Given the description of an element on the screen output the (x, y) to click on. 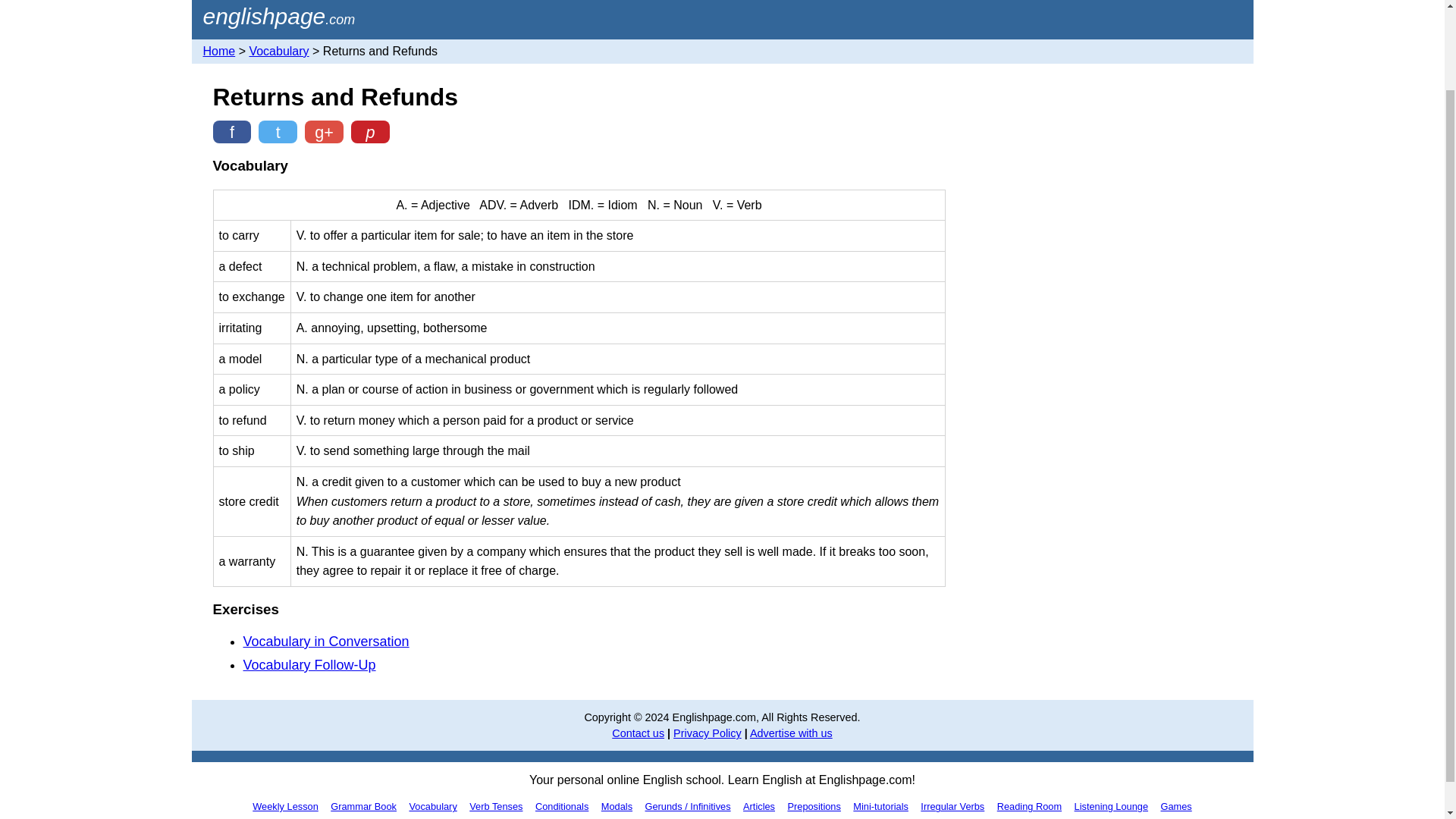
Vocabulary Follow-Up (309, 664)
Reading Room (1028, 806)
p (370, 131)
Vocabulary (432, 806)
englishpage.com (279, 16)
Contact us (637, 733)
Games (1175, 806)
Home (279, 16)
Advertise with us (790, 733)
Conditionals (561, 806)
t (278, 131)
Home (219, 51)
Verb Tenses (495, 806)
Grammar Book (363, 806)
Privacy Policy (706, 733)
